Given the description of an element on the screen output the (x, y) to click on. 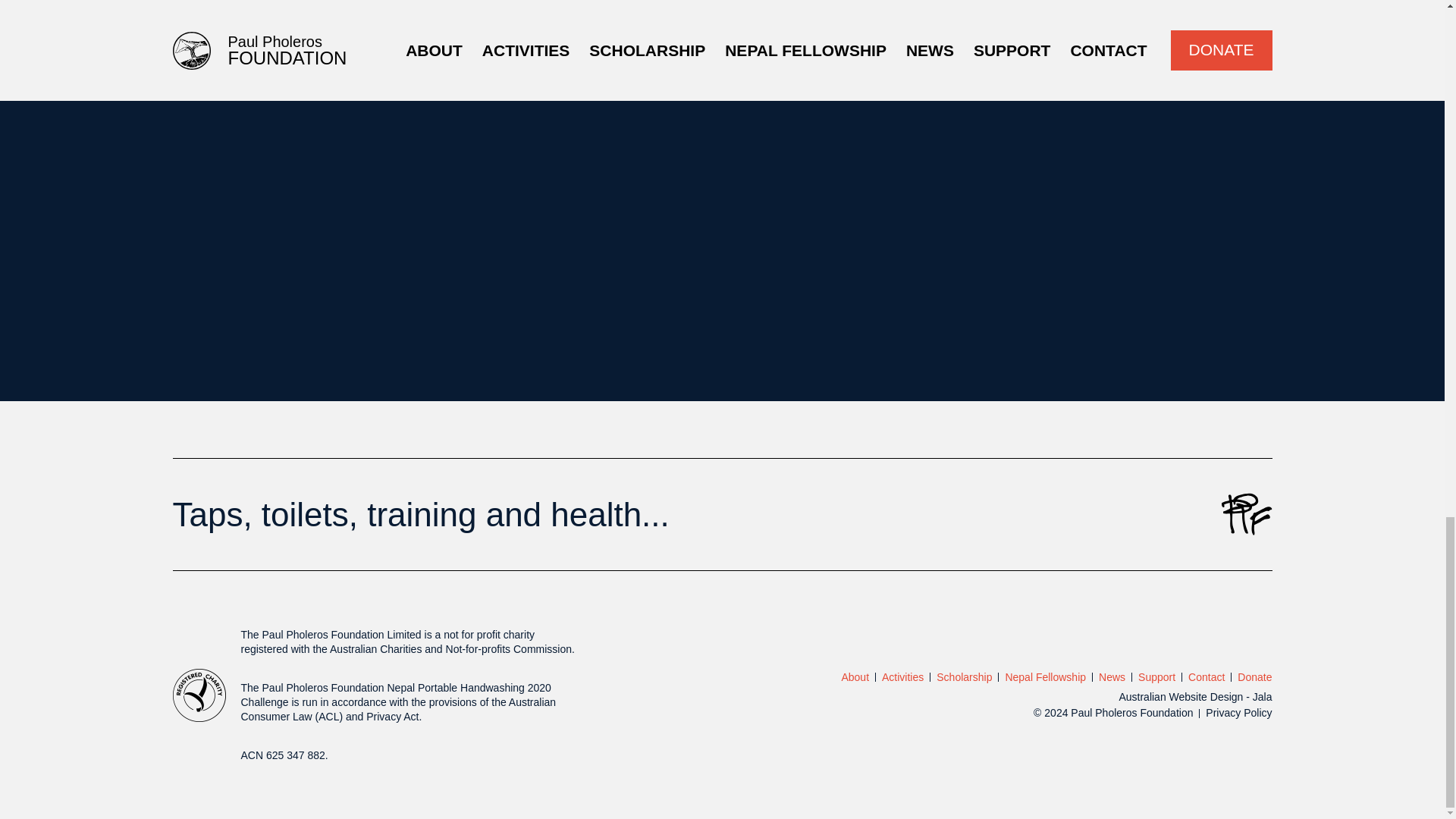
Jala Design (1194, 696)
